Given the description of an element on the screen output the (x, y) to click on. 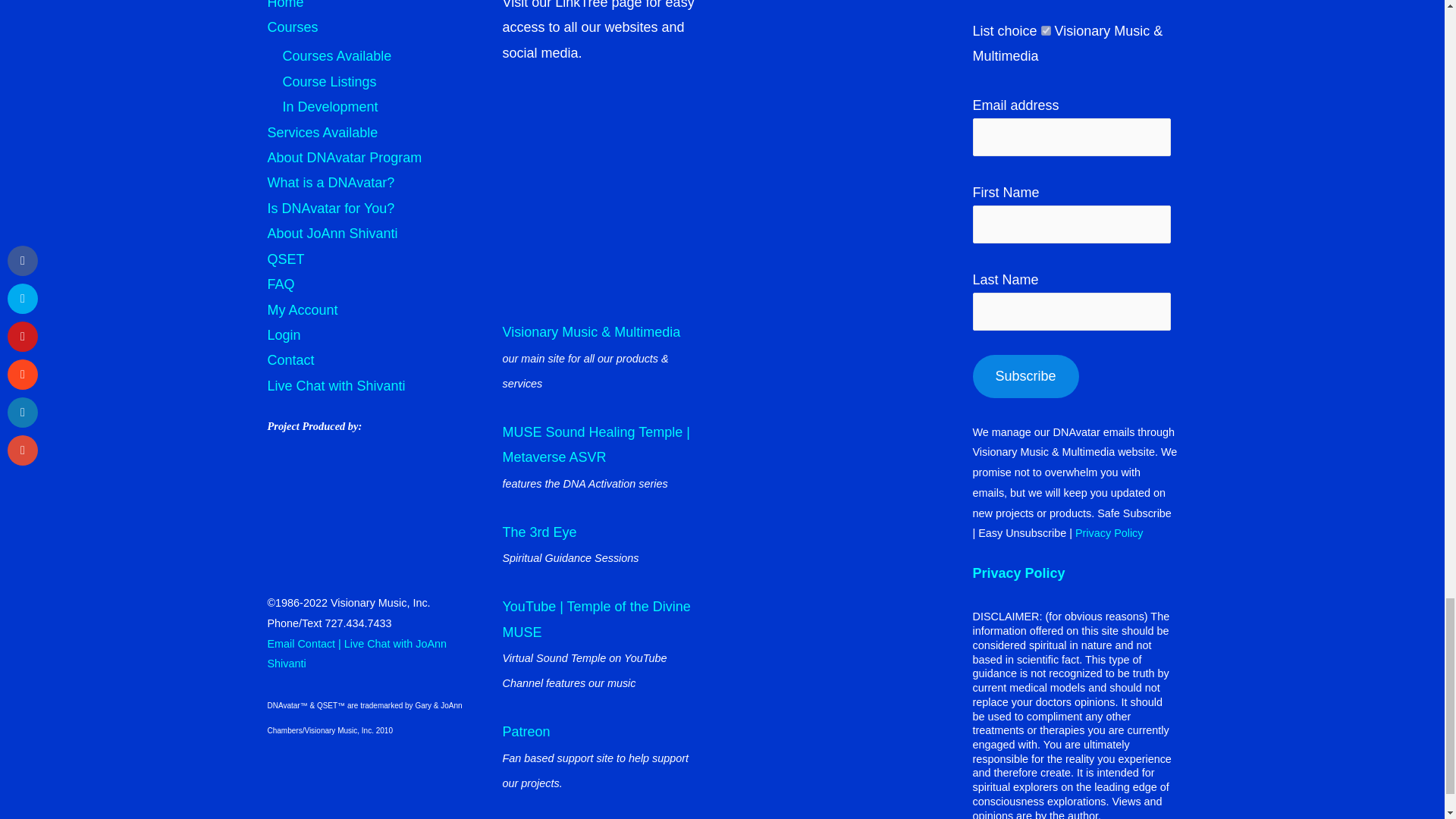
Home (284, 4)
Subscribe (1025, 376)
Courses (291, 27)
Course Listings (328, 81)
d28ba3583c (1046, 30)
Courses Available (336, 55)
In Development (329, 106)
